Given the description of an element on the screen output the (x, y) to click on. 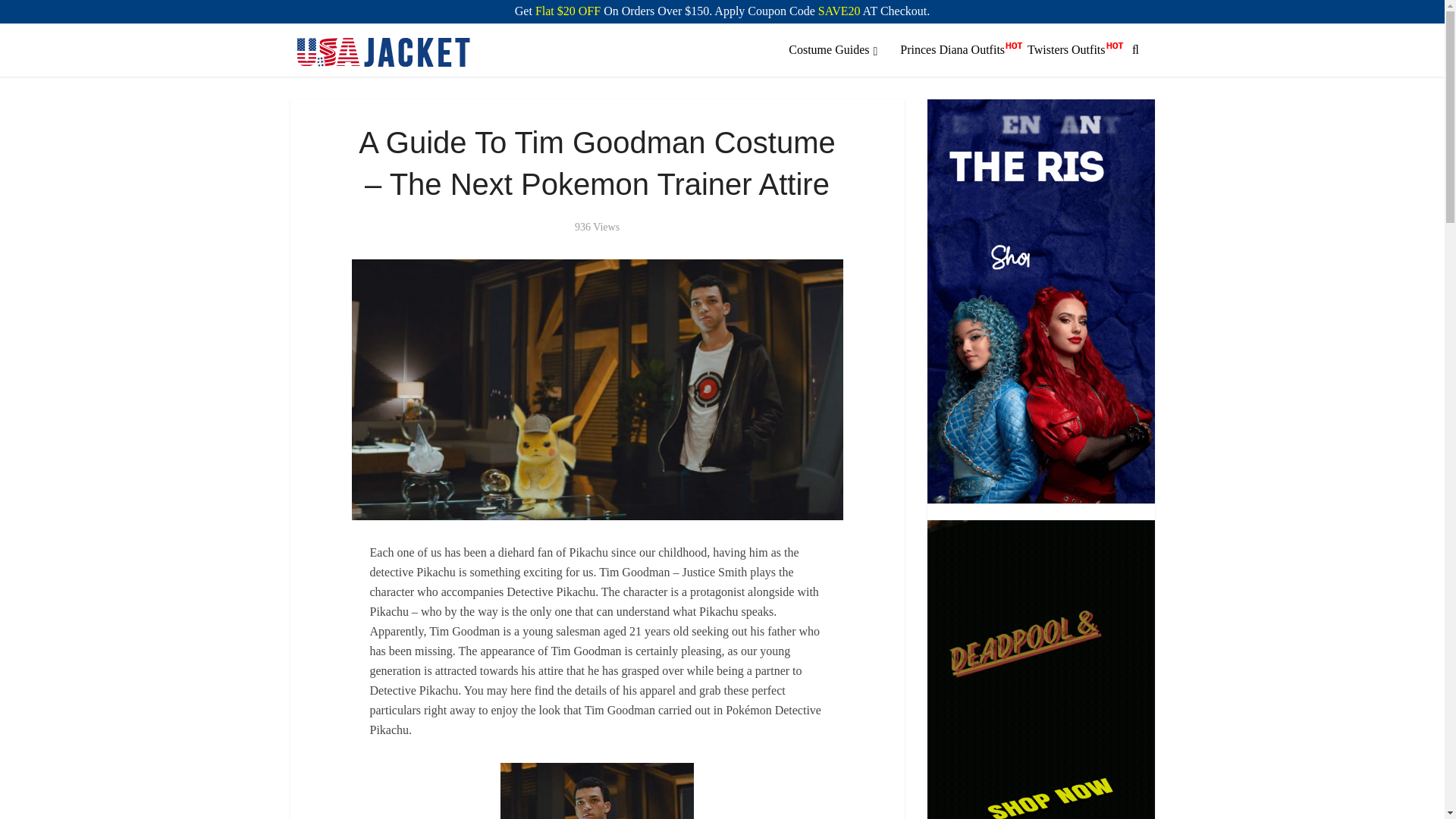
USA Jacket (384, 51)
Princes Diana Outfits (952, 49)
Twisters Outfits (1066, 49)
Costume Guides (832, 49)
